Given the description of an element on the screen output the (x, y) to click on. 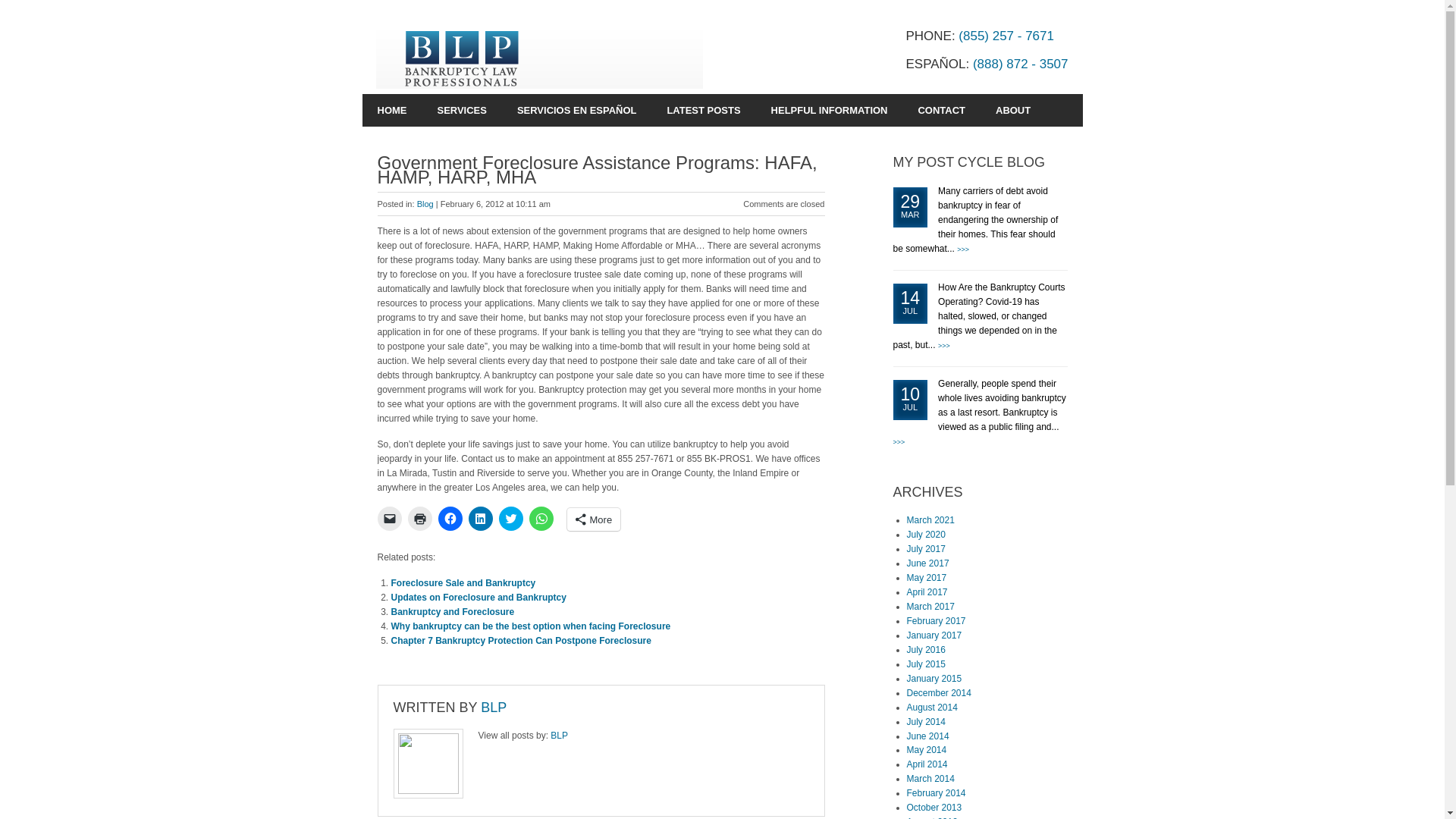
Click to email a link to a friend (389, 518)
Click to share on Facebook (450, 518)
SERVICES (461, 110)
Bankruptcy and Foreclosure (453, 611)
ABOUT (1012, 110)
Updates on Foreclosure and Bankruptcy (478, 597)
HOME (392, 110)
CONTACT (940, 110)
Click to share on Twitter (510, 518)
